Given the description of an element on the screen output the (x, y) to click on. 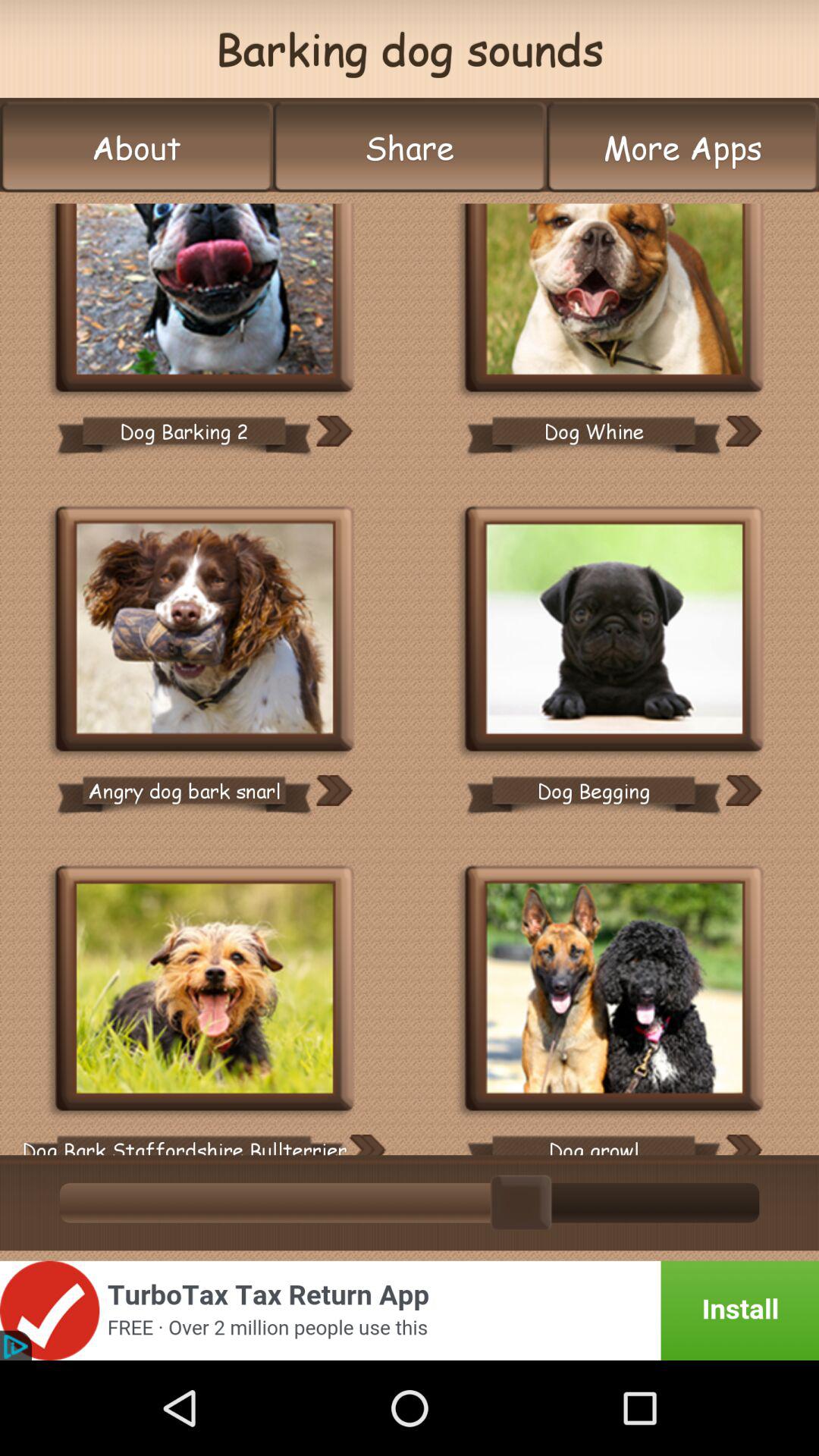
click to forward option (743, 790)
